Given the description of an element on the screen output the (x, y) to click on. 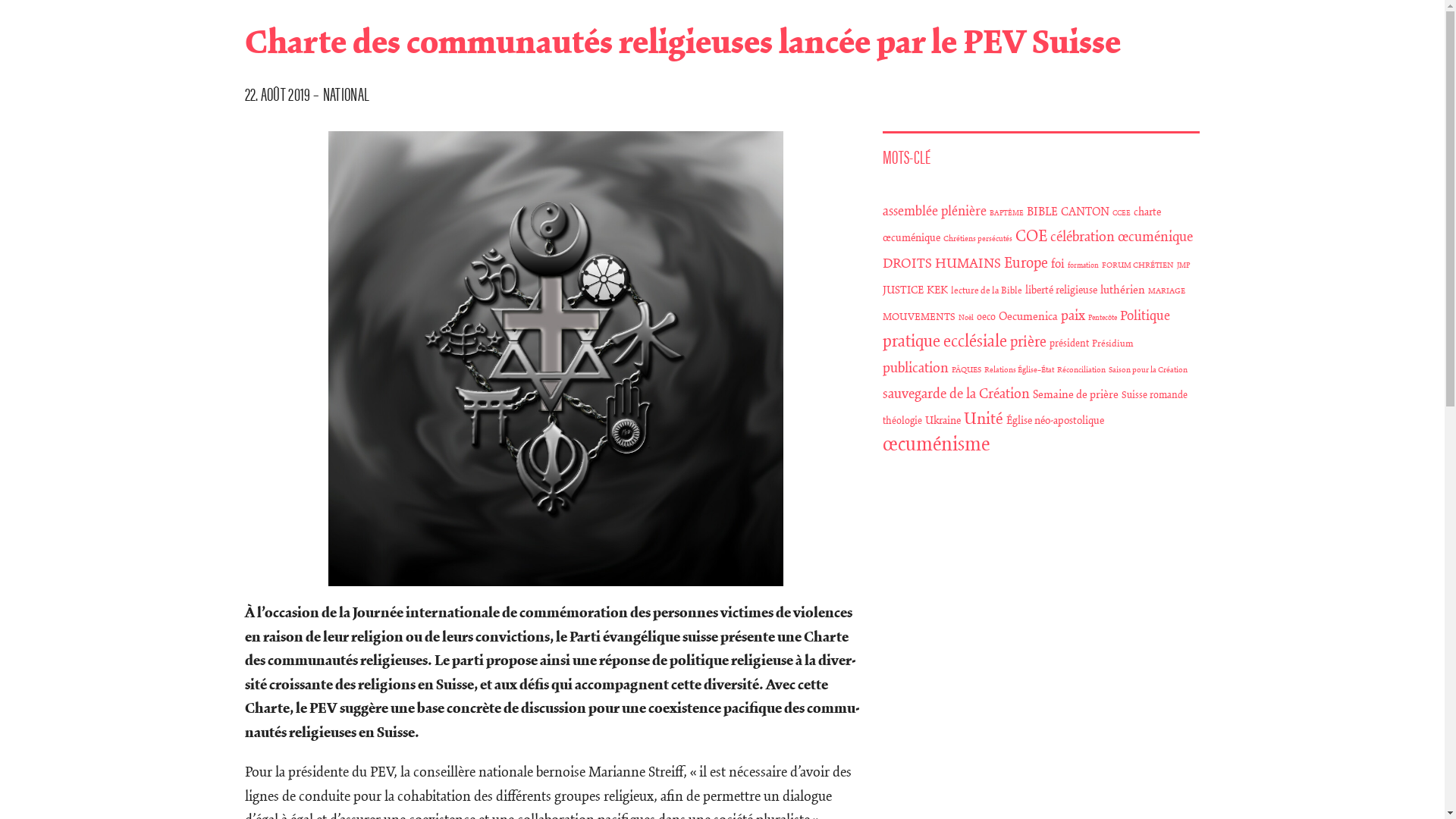
JUSTICE Element type: text (902, 290)
COE Element type: text (1031, 236)
formation Element type: text (1082, 265)
lecture de la Bible Element type: text (986, 290)
Ukraine Element type: text (942, 420)
Politique Element type: text (1145, 315)
BIBLE Element type: text (1041, 211)
KEK Element type: text (936, 290)
paix Element type: text (1072, 315)
Oecumenica Element type: text (1027, 316)
oeco Element type: text (985, 317)
Europe Element type: text (1026, 263)
publication Element type: text (915, 368)
CANTON Element type: text (1084, 211)
Suisse romande Element type: text (1154, 395)
DROITS HUMAINS Element type: text (941, 263)
foi Element type: text (1057, 264)
CCEE Element type: text (1121, 213)
MARIAGE Element type: text (1166, 290)
JMP Element type: text (1182, 265)
MOUVEMENTS Element type: text (918, 317)
